Given the description of an element on the screen output the (x, y) to click on. 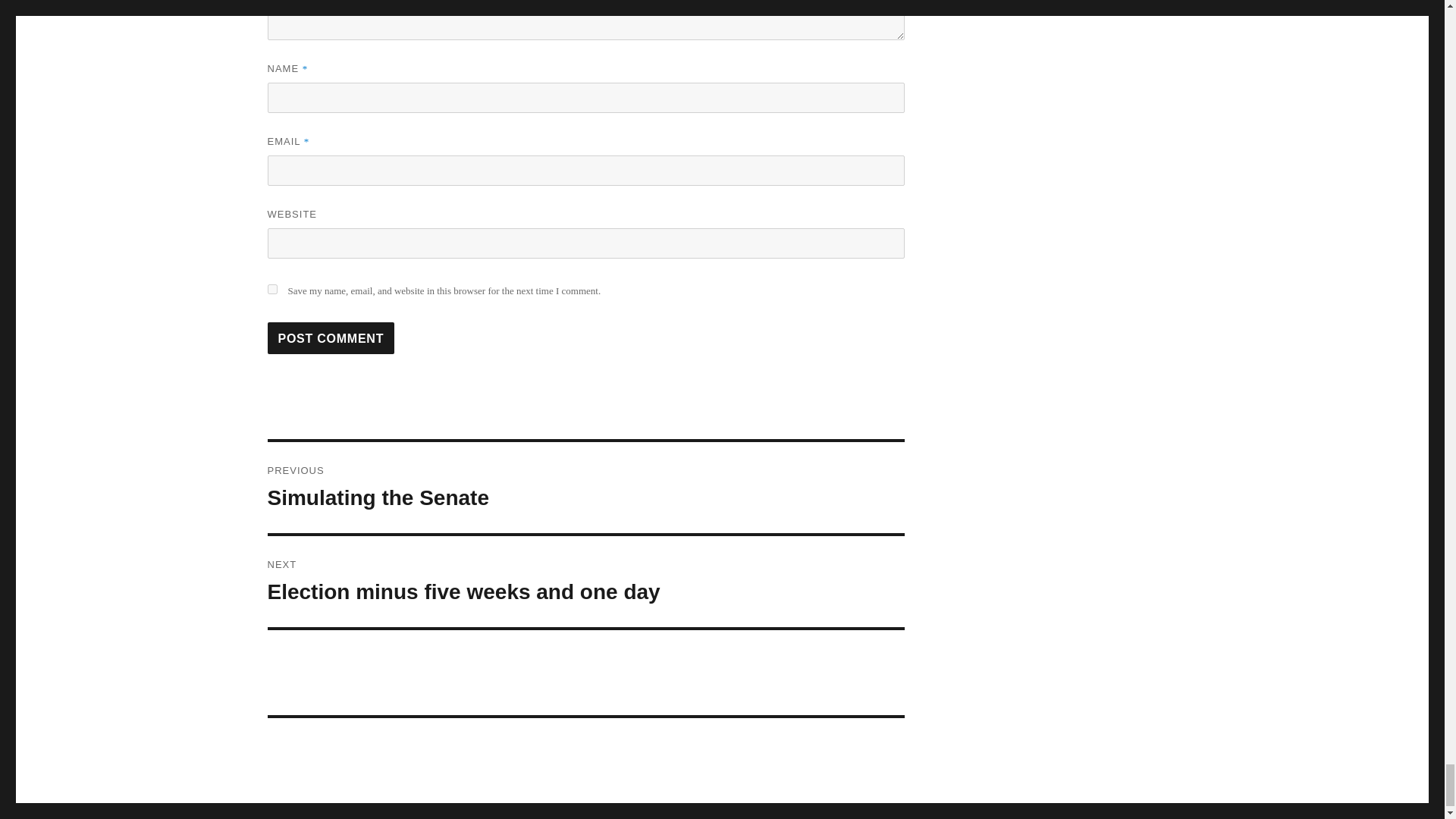
Post Comment (330, 337)
yes (271, 289)
